Given the description of an element on the screen output the (x, y) to click on. 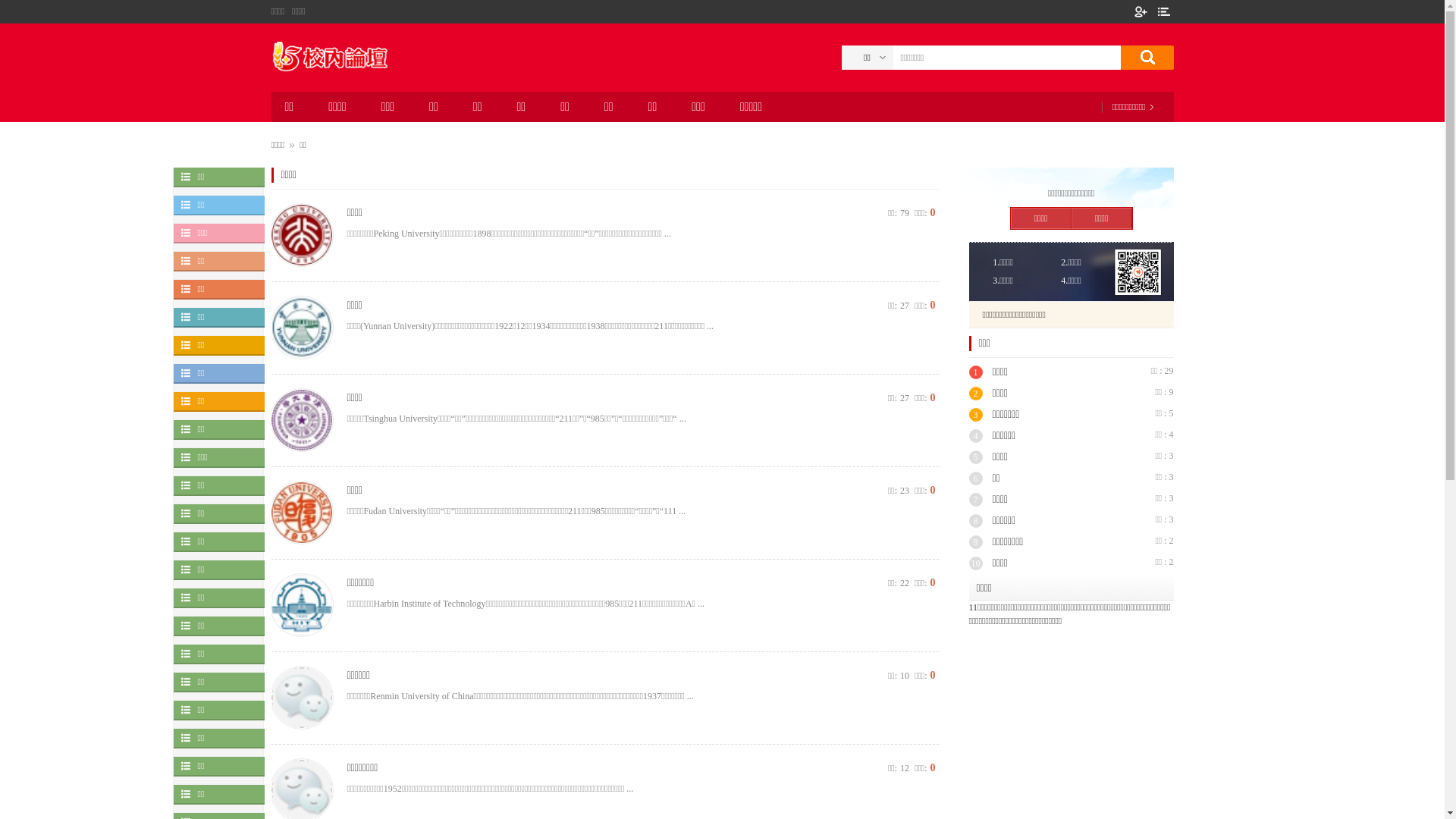
true Element type: text (1146, 57)
